Given the description of an element on the screen output the (x, y) to click on. 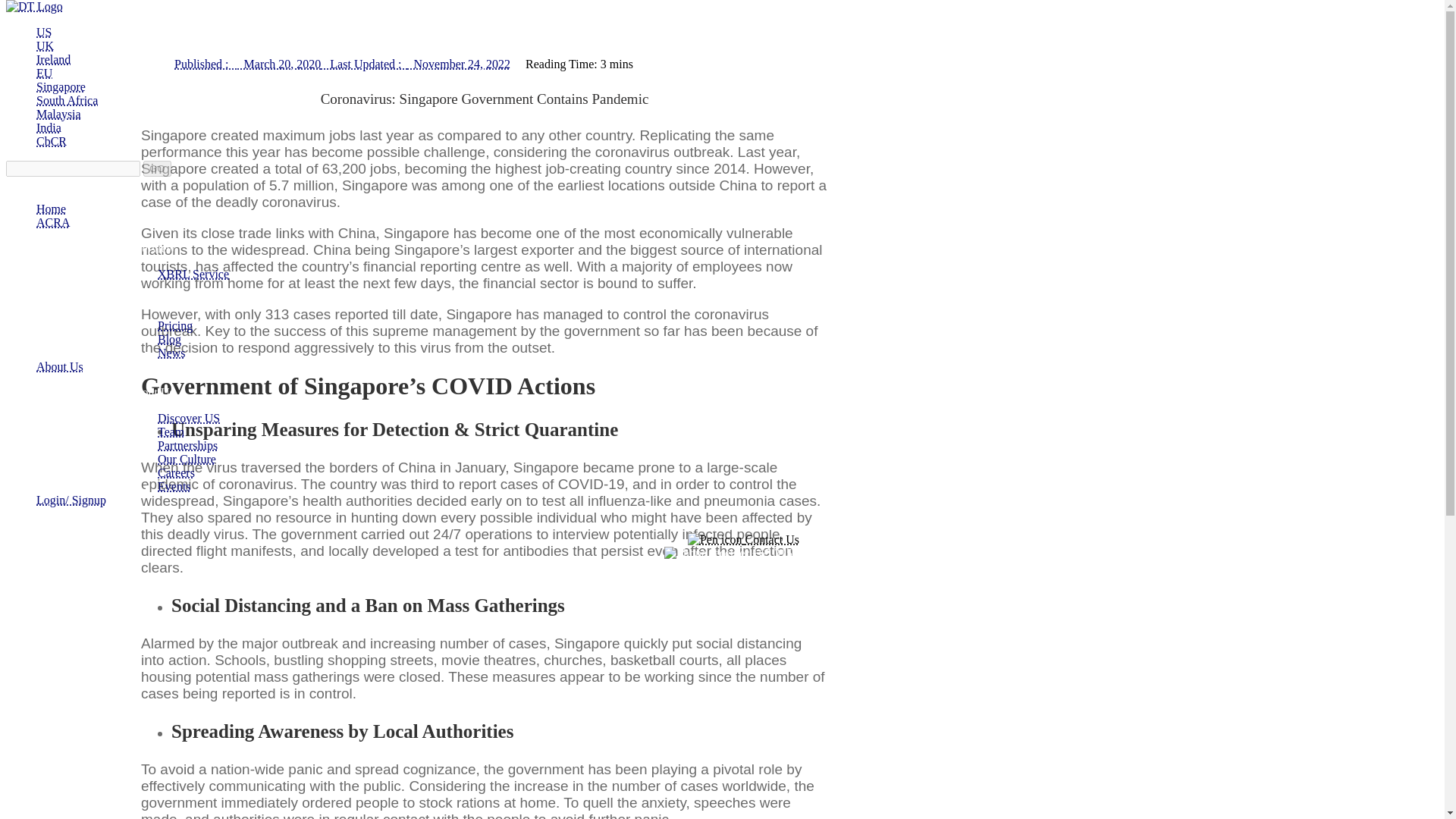
US (43, 31)
Team (170, 431)
GO (156, 168)
Ireland (52, 59)
Pricing (174, 325)
Click to call (742, 553)
EU (44, 72)
